Given the description of an element on the screen output the (x, y) to click on. 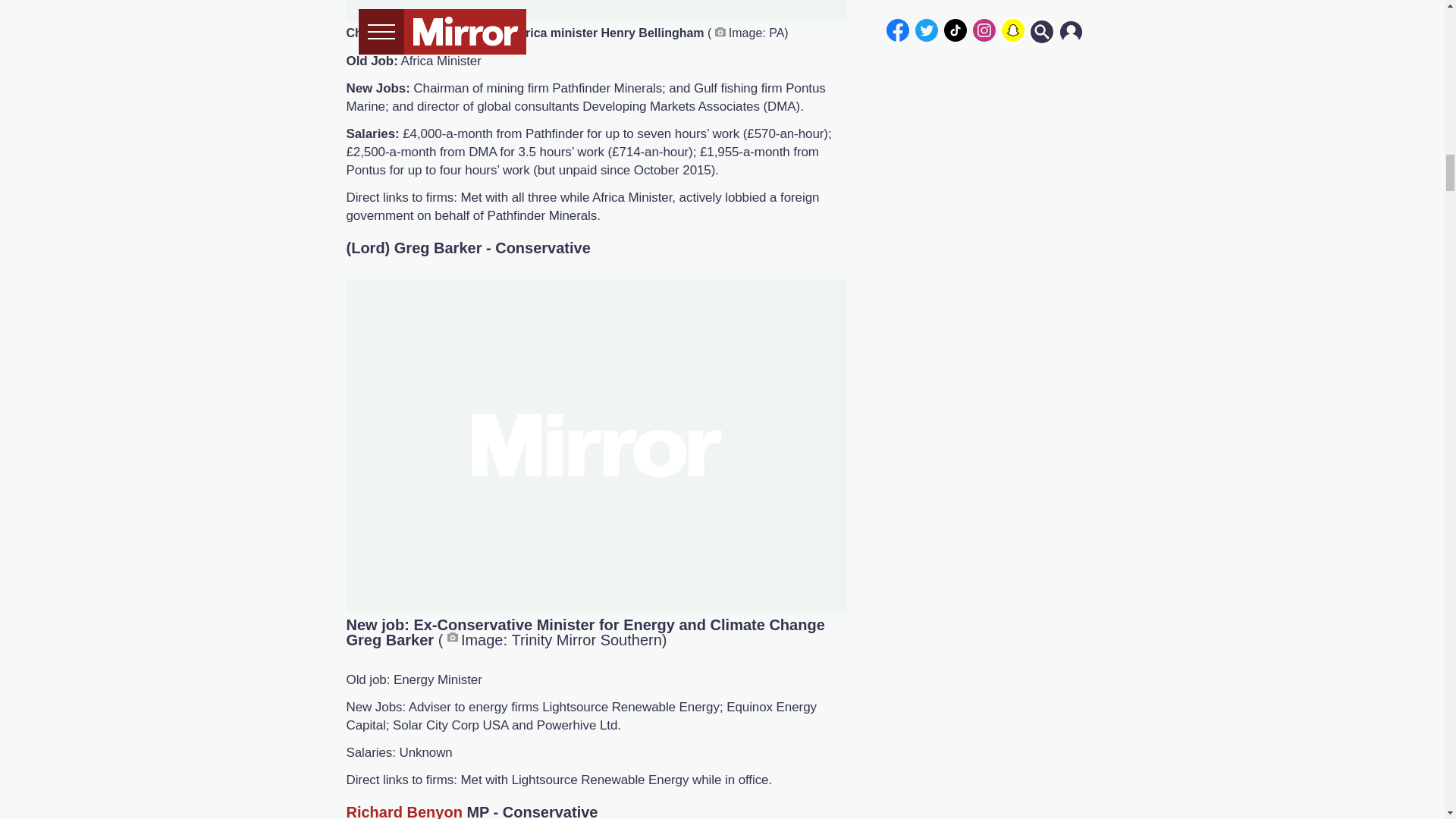
Richard Benyon (403, 811)
